Given the description of an element on the screen output the (x, y) to click on. 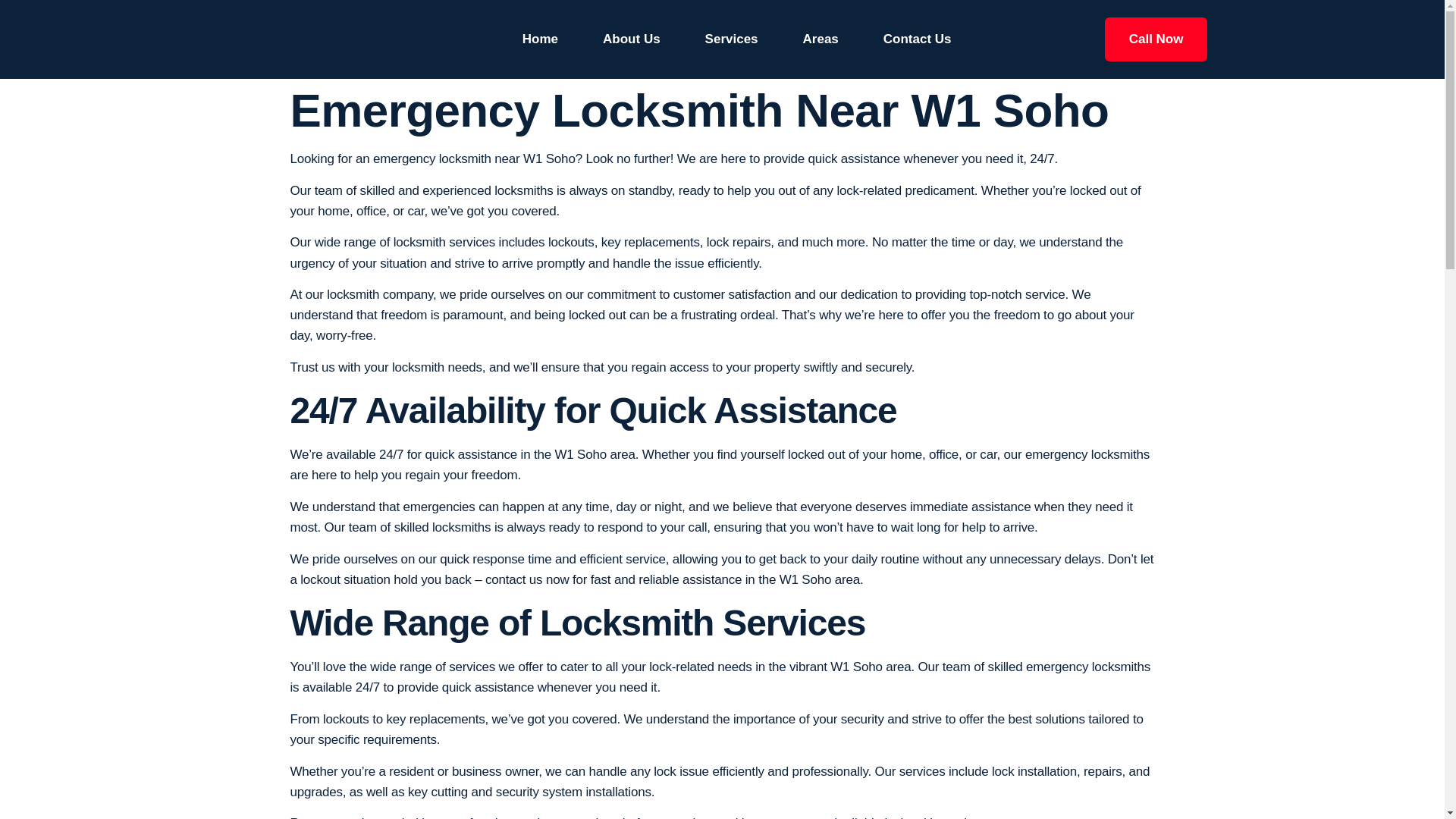
About Us (631, 39)
Home (540, 39)
Areas (821, 39)
Services (731, 39)
